Given the description of an element on the screen output the (x, y) to click on. 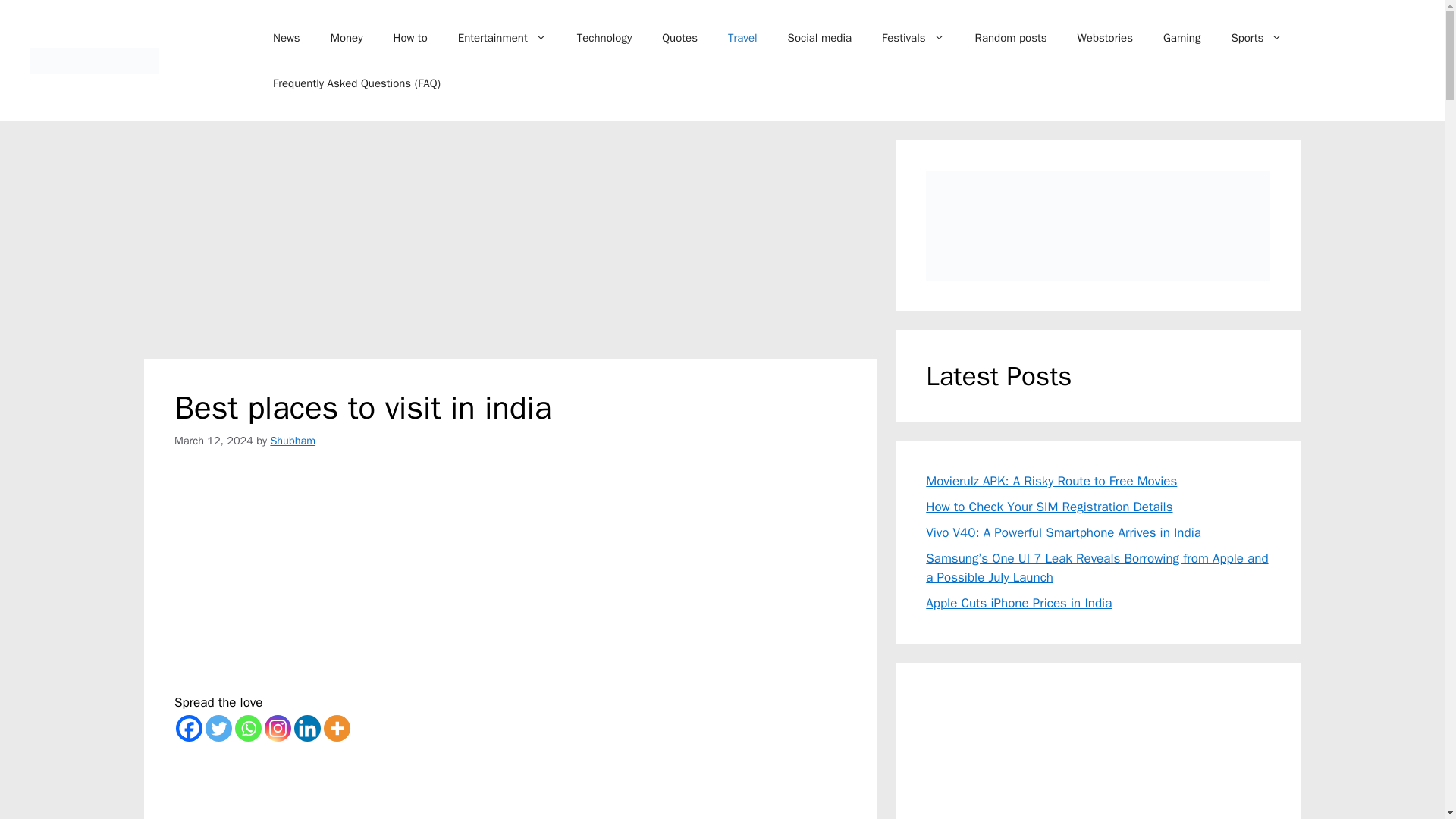
Money (346, 37)
Twitter (218, 728)
Random posts (1010, 37)
Travel (743, 37)
Entertainment (502, 37)
Gaming (1181, 37)
Sports (1256, 37)
Facebook (189, 728)
Quotes (679, 37)
Webstories (1105, 37)
